Given the description of an element on the screen output the (x, y) to click on. 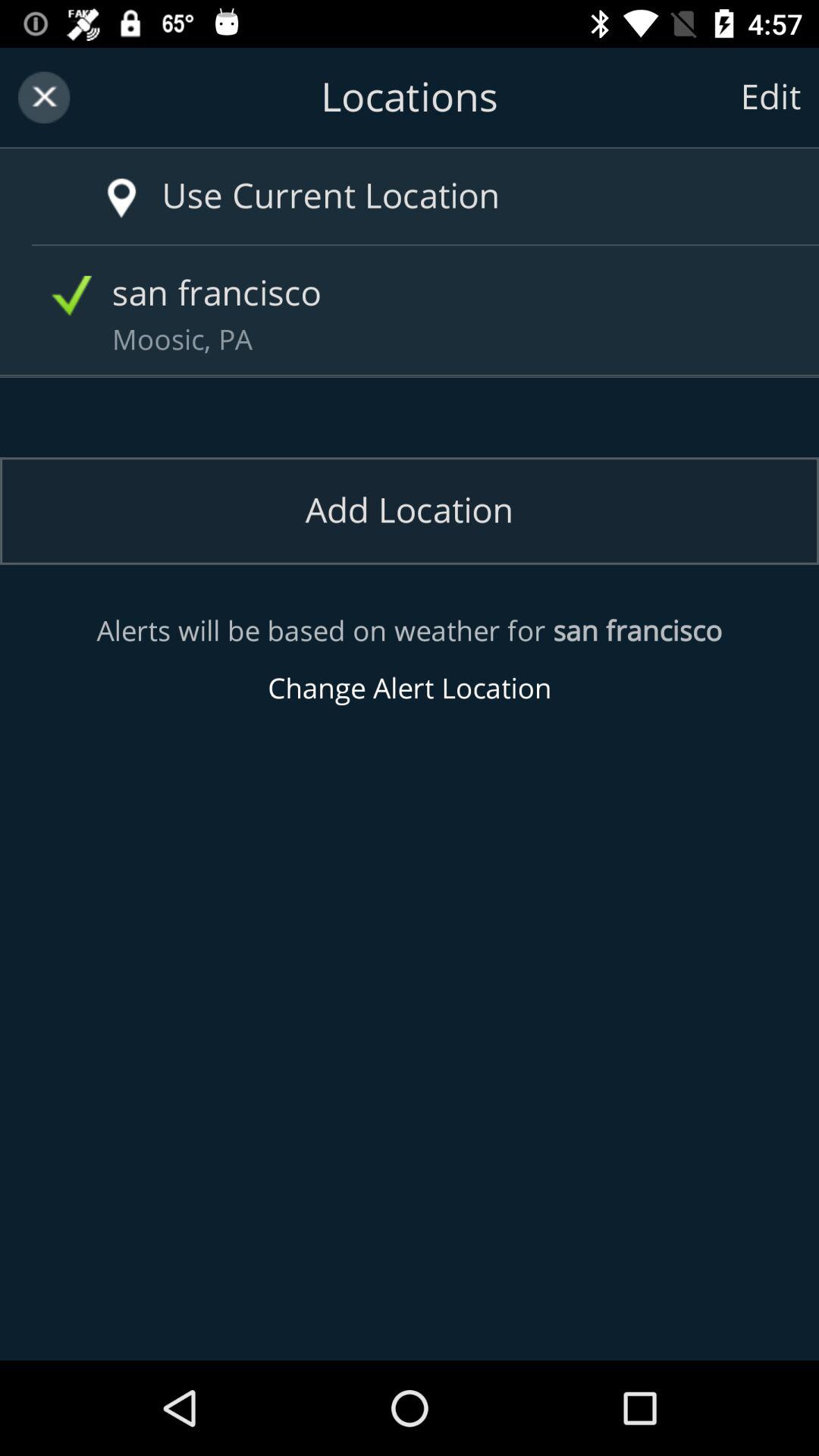
locations sharing button (409, 97)
